Given the description of an element on the screen output the (x, y) to click on. 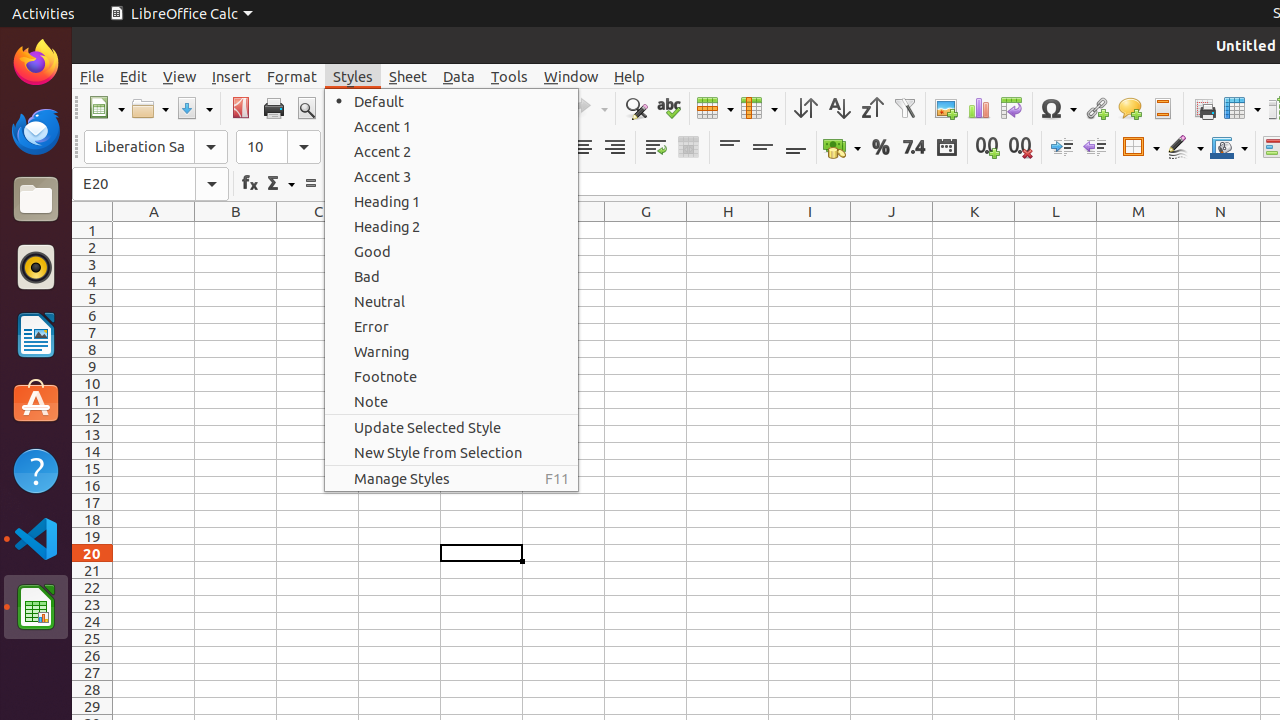
Neutral Element type: radio-menu-item (451, 301)
Merge and Center Cells Element type: push-button (688, 147)
Styles Element type: menu (353, 76)
Border Color Element type: push-button (1229, 147)
Sort Descending Element type: push-button (871, 108)
